Given the description of an element on the screen output the (x, y) to click on. 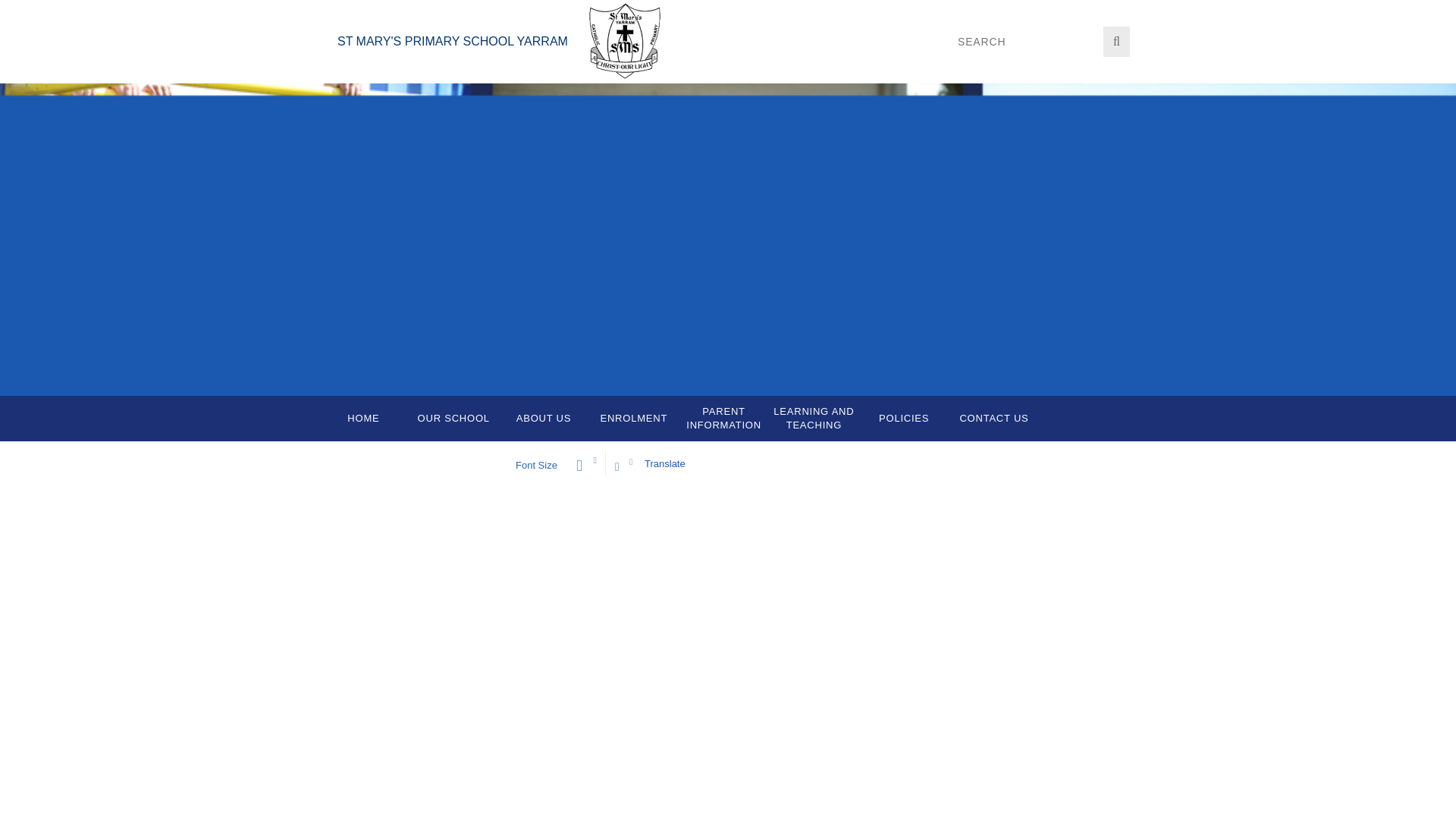
POLICIES (904, 418)
HOME (363, 418)
OUR SCHOOL (454, 418)
ST MARY'S PRIMARY SCHOOL YARRAM (452, 58)
Parent Information (723, 418)
LEARNING AND TEACHING (813, 418)
ENROLMENT (633, 418)
Search (1027, 41)
PARENT INFORMATION (723, 418)
About Us (544, 418)
ABOUT US (544, 418)
Home (363, 418)
Enrolment (633, 418)
Our School (454, 418)
